Given the description of an element on the screen output the (x, y) to click on. 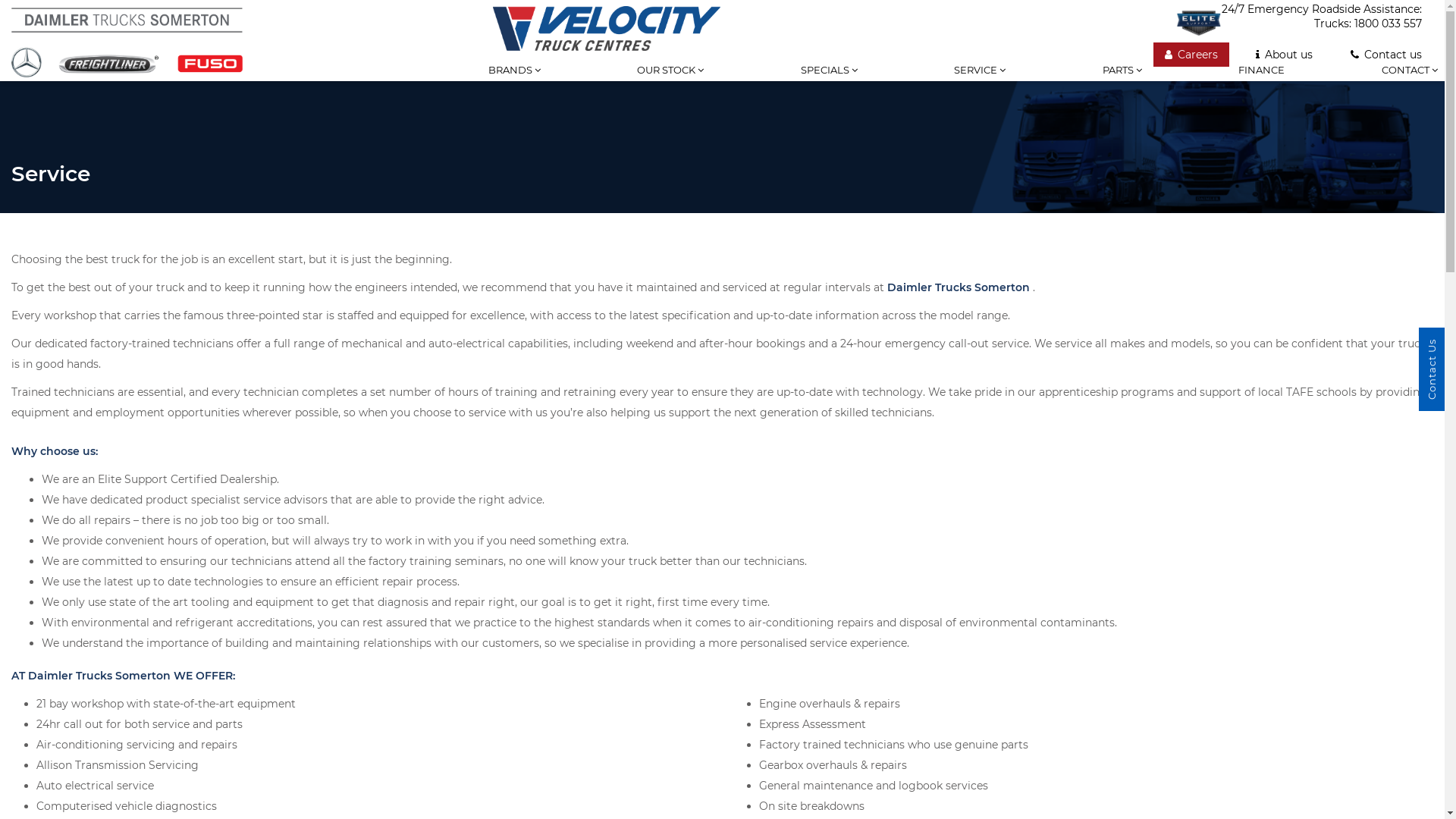
SERVICE Element type: text (979, 80)
FINANCE Element type: text (1261, 80)
BRANDS Element type: text (514, 80)
1800 033 557 Element type: text (1387, 23)
OUR STOCK Element type: text (670, 80)
Contact us Element type: text (1386, 54)
CONTACT Element type: text (1409, 80)
Elite Support Element type: hover (1198, 22)
SPECIALS Element type: text (828, 80)
About us Element type: text (1284, 54)
Careers Element type: text (1191, 54)
PARTS Element type: text (1122, 80)
Contact Us Element type: text (1431, 369)
